Given the description of an element on the screen output the (x, y) to click on. 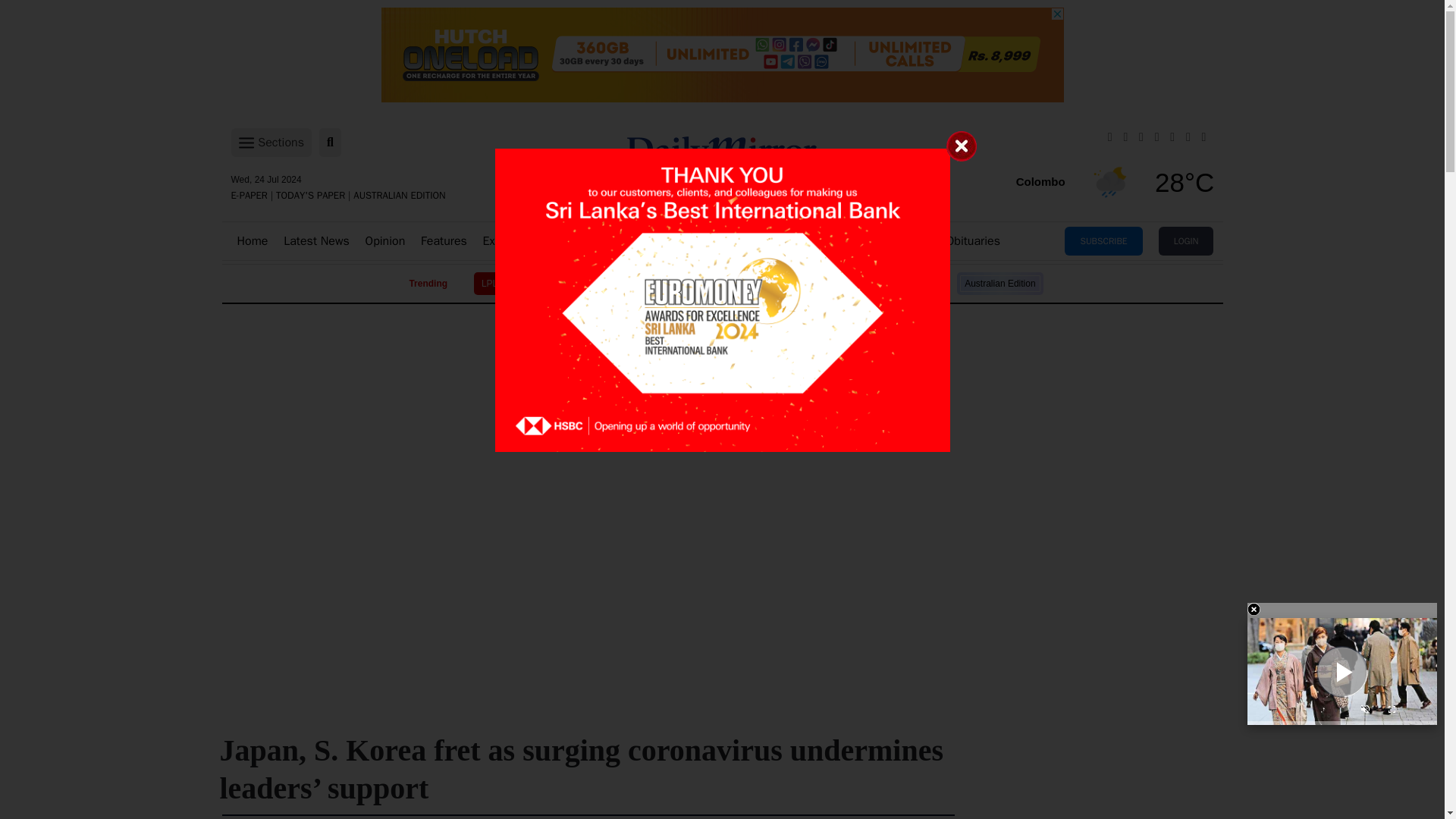
3rd party ad content (721, 562)
3rd party ad content (721, 54)
3rd party ad content (721, 358)
Unmute (1364, 711)
Play (1342, 671)
3rd party ad content (721, 461)
